Given the description of an element on the screen output the (x, y) to click on. 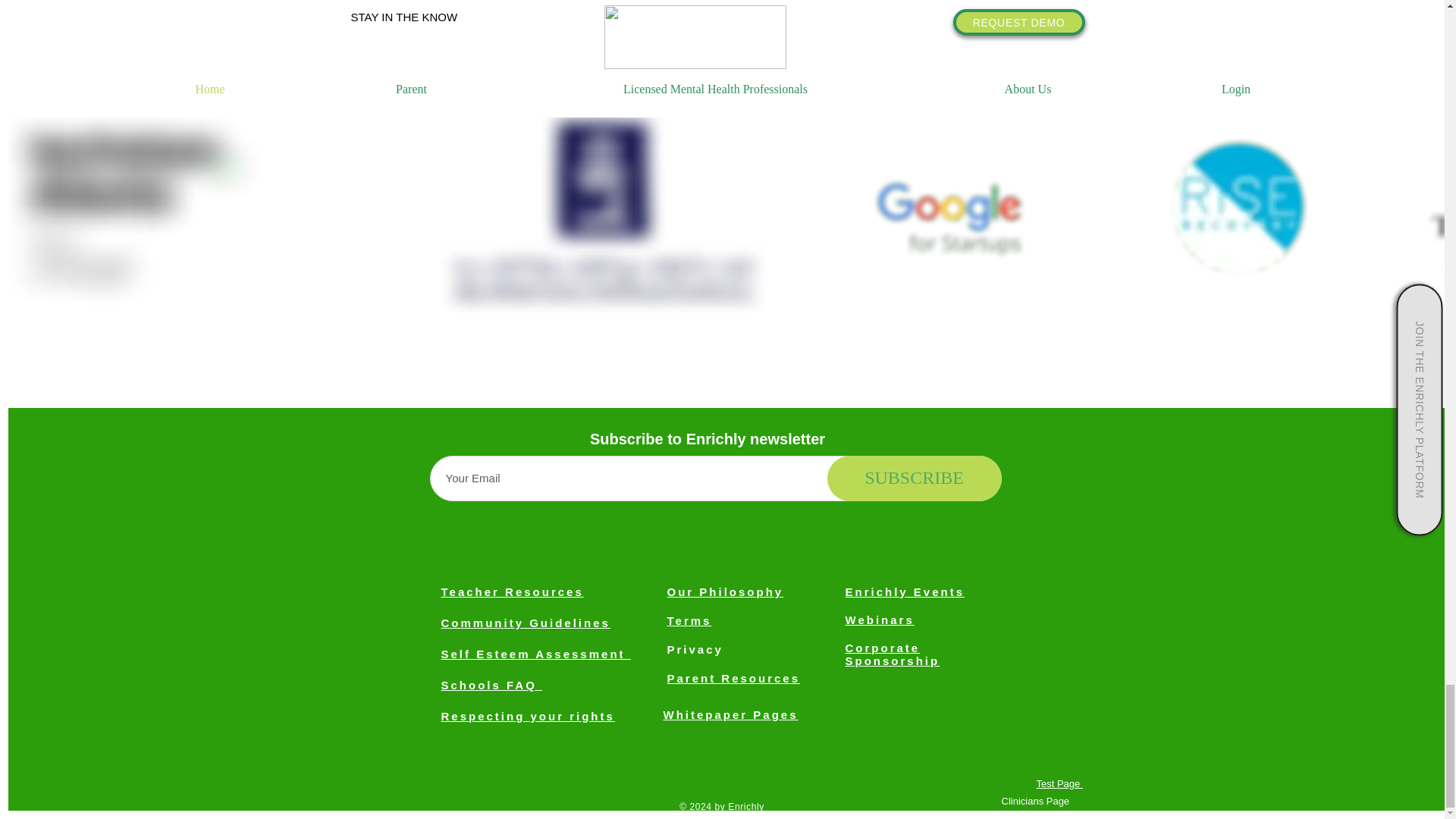
Schools FAQ  (492, 684)
Teacher Resources (512, 591)
Community Guidelines (525, 622)
Respecting your rights (527, 716)
Terms (688, 620)
Self Esteem Assessment  (535, 653)
Parent Resources (733, 677)
SUBSCRIBE (914, 478)
Our Philosophy (725, 591)
